Given the description of an element on the screen output the (x, y) to click on. 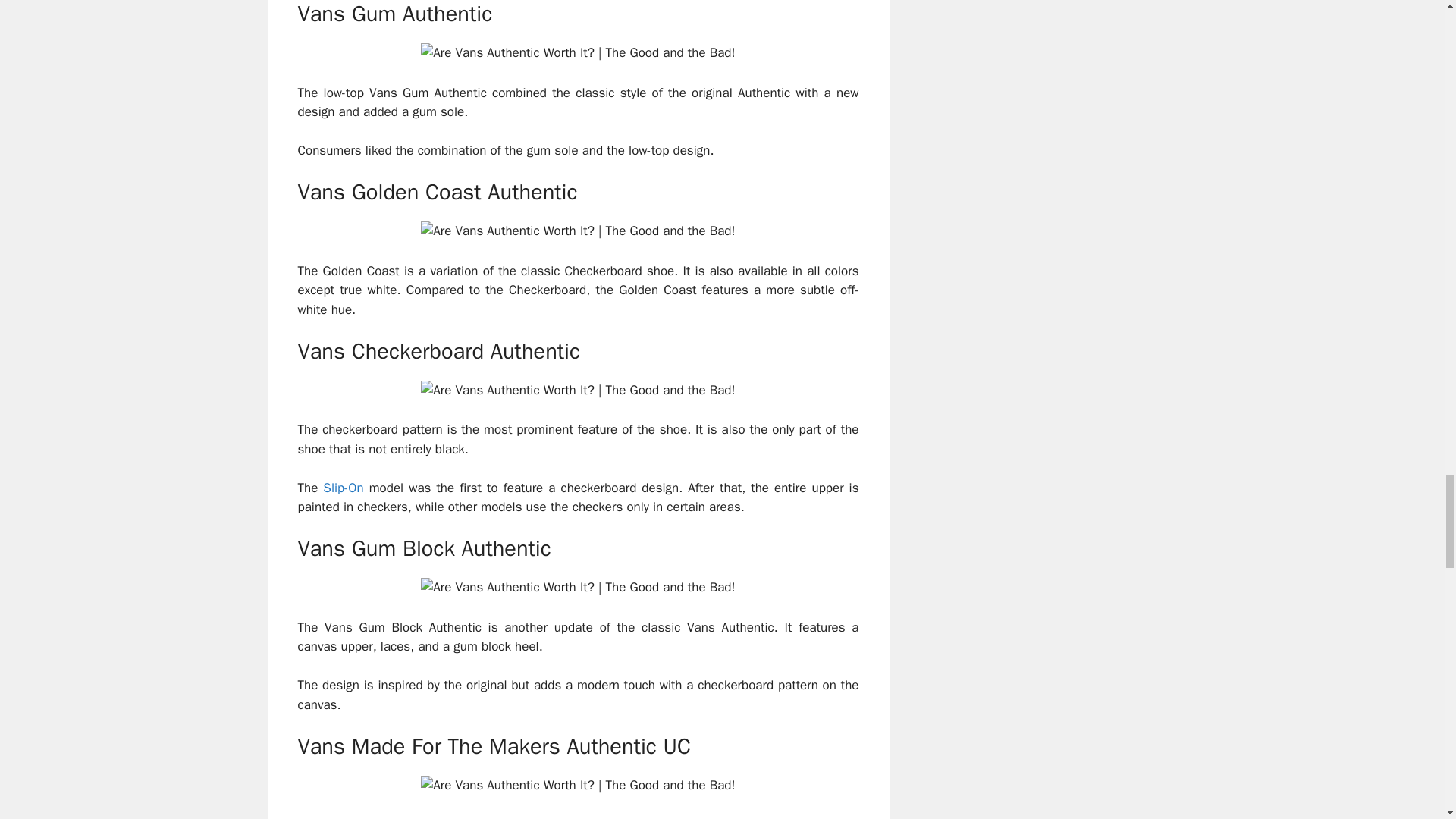
Slip-On (342, 487)
